Given the description of an element on the screen output the (x, y) to click on. 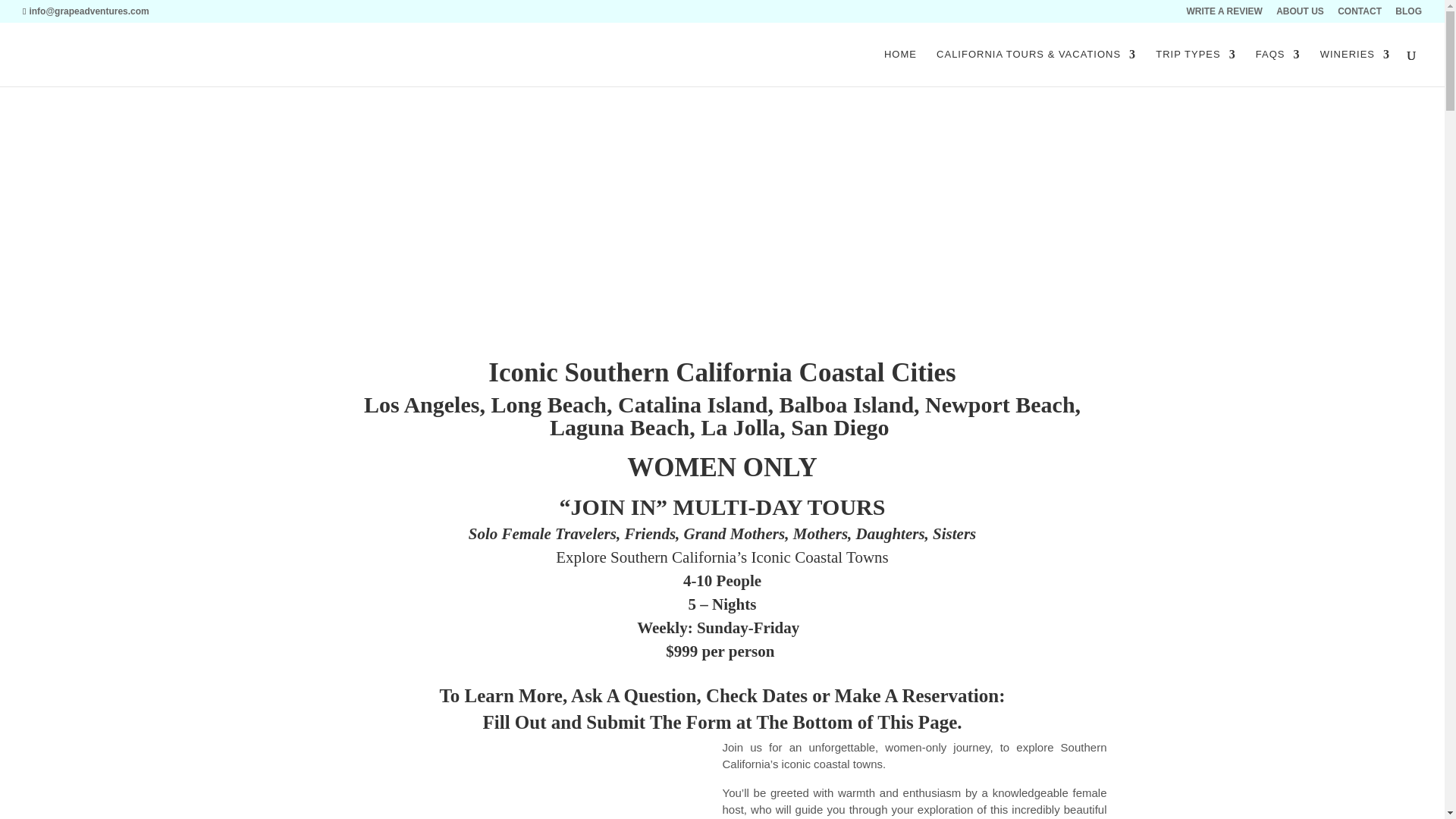
TRIP TYPES (1195, 67)
BLOG (1408, 14)
WRITE A REVIEW (1224, 14)
CONTACT (1359, 14)
ABOUT US (1299, 14)
LOS ANGELES (529, 778)
FAQS (1277, 67)
WINERIES (1355, 67)
